Given the description of an element on the screen output the (x, y) to click on. 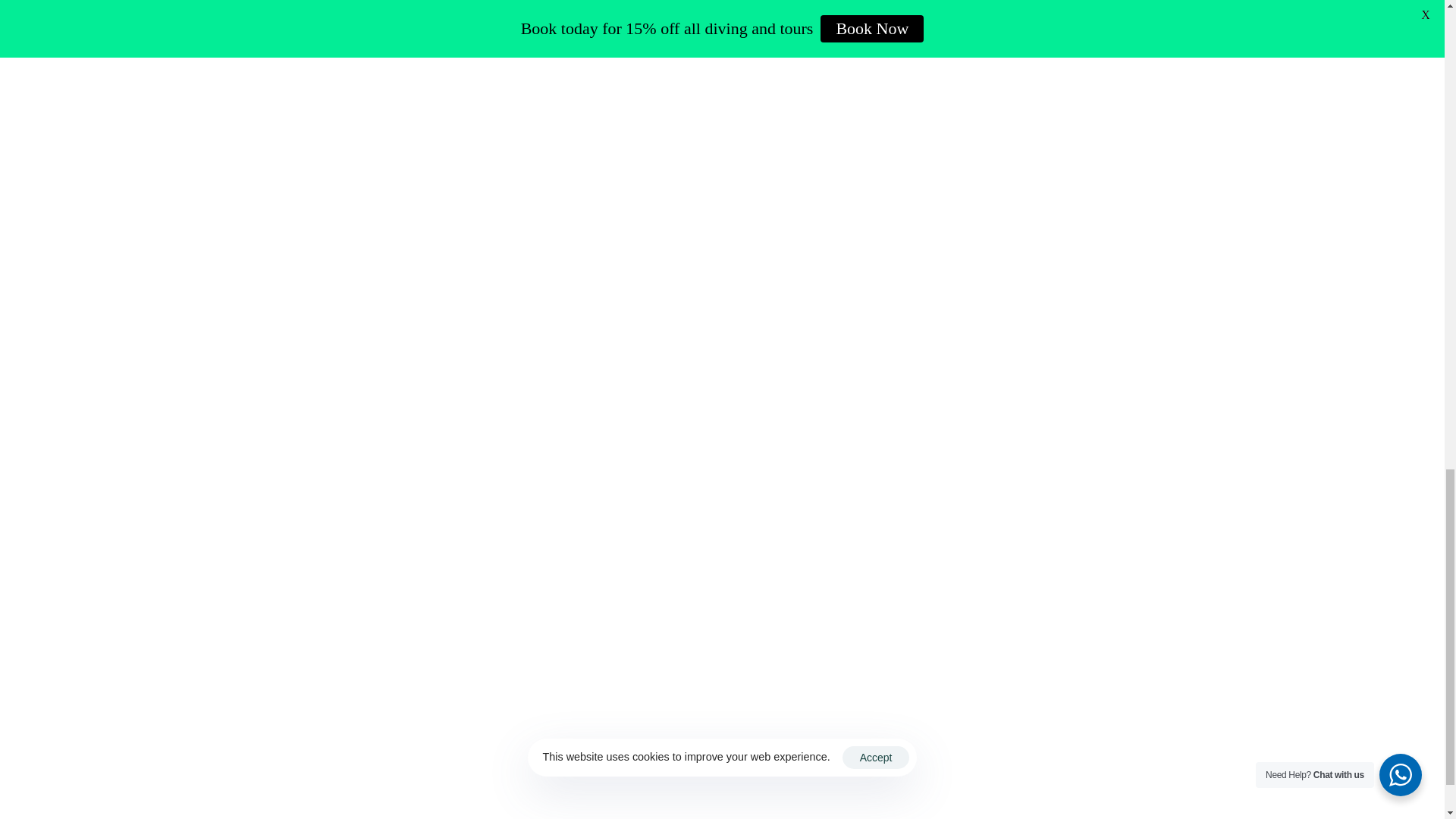
Back to Basic Courses (343, 305)
